Given the description of an element on the screen output the (x, y) to click on. 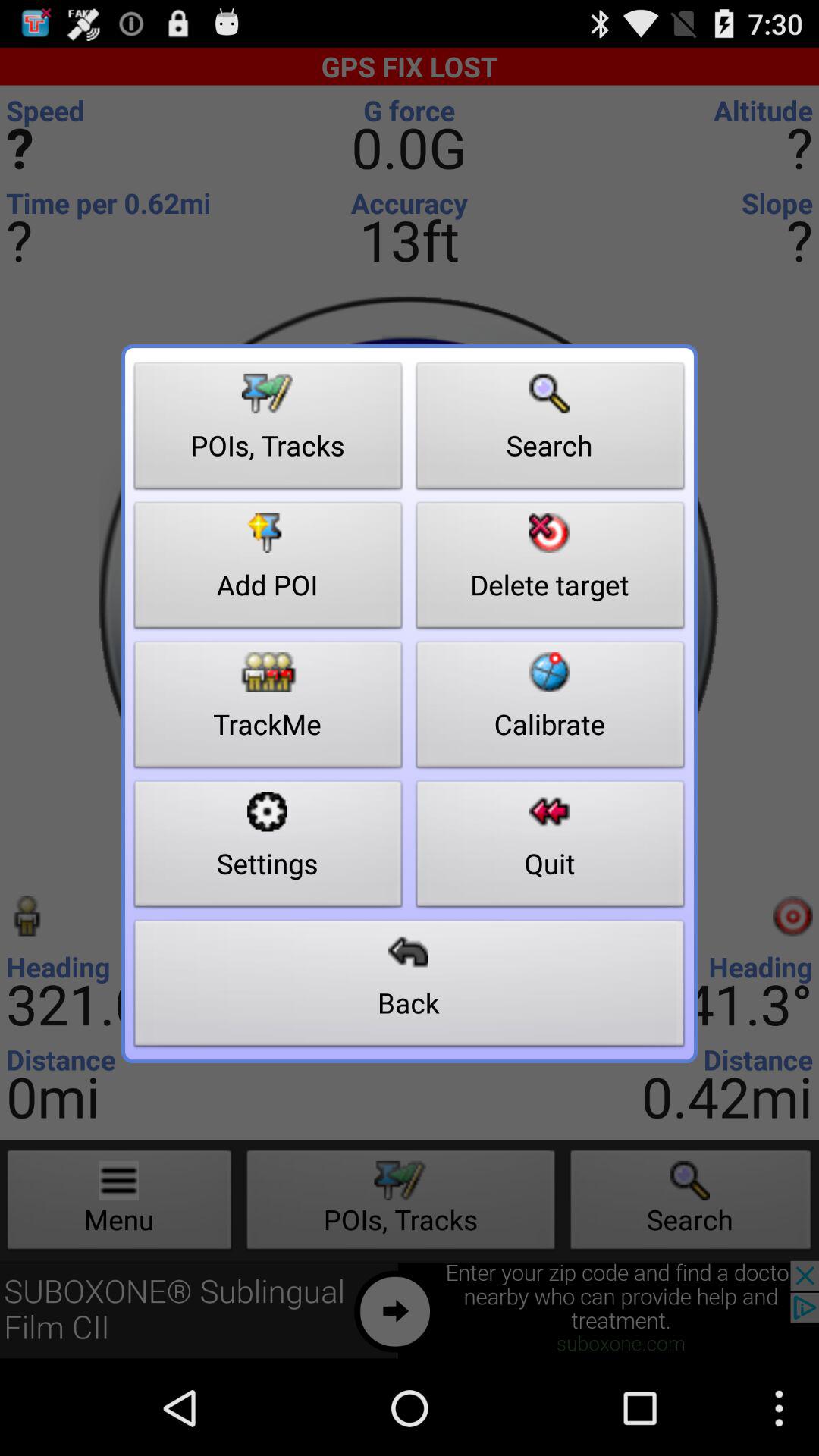
press the settings (268, 847)
